Given the description of an element on the screen output the (x, y) to click on. 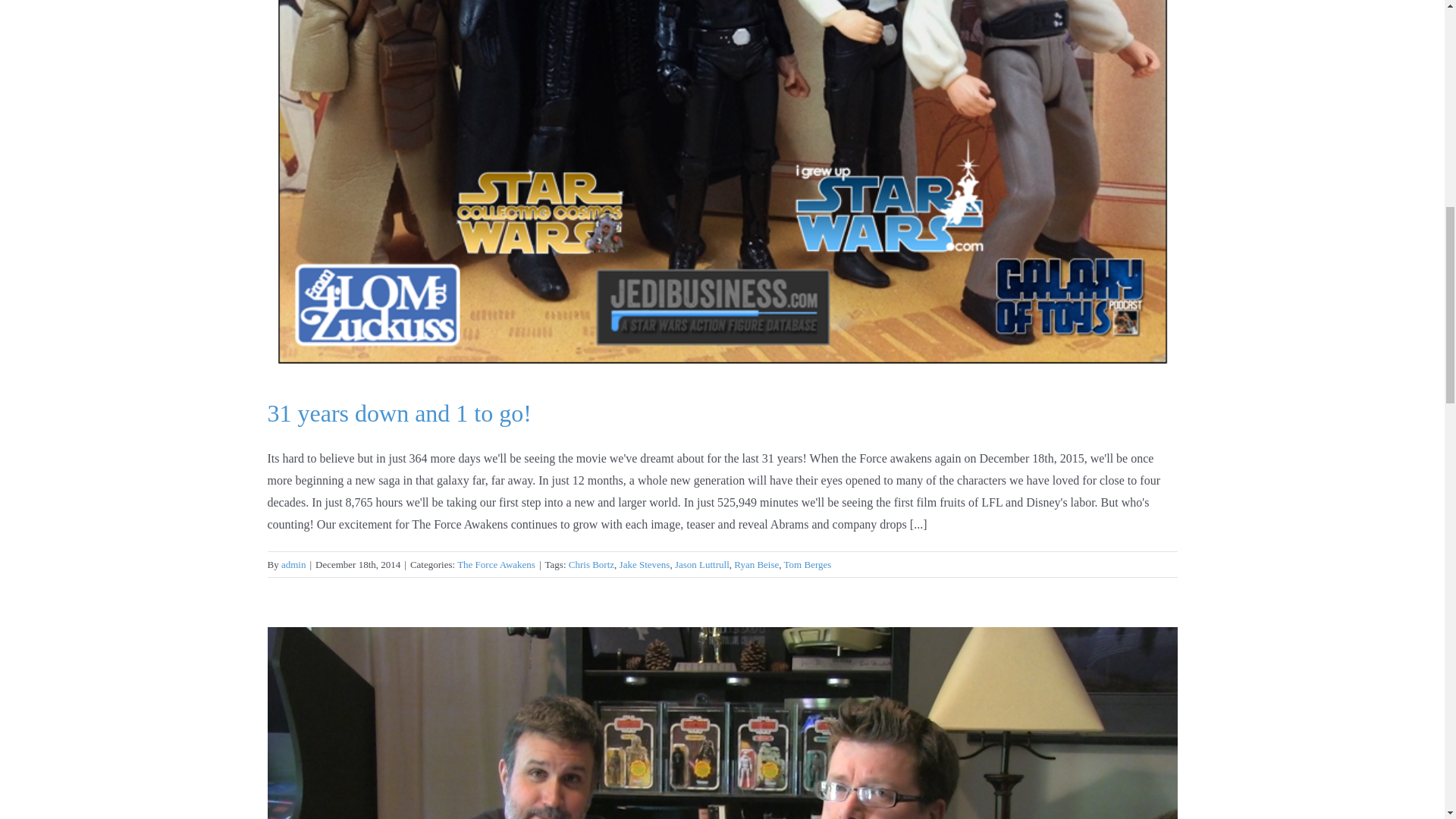
Posts by admin (293, 564)
